Given the description of an element on the screen output the (x, y) to click on. 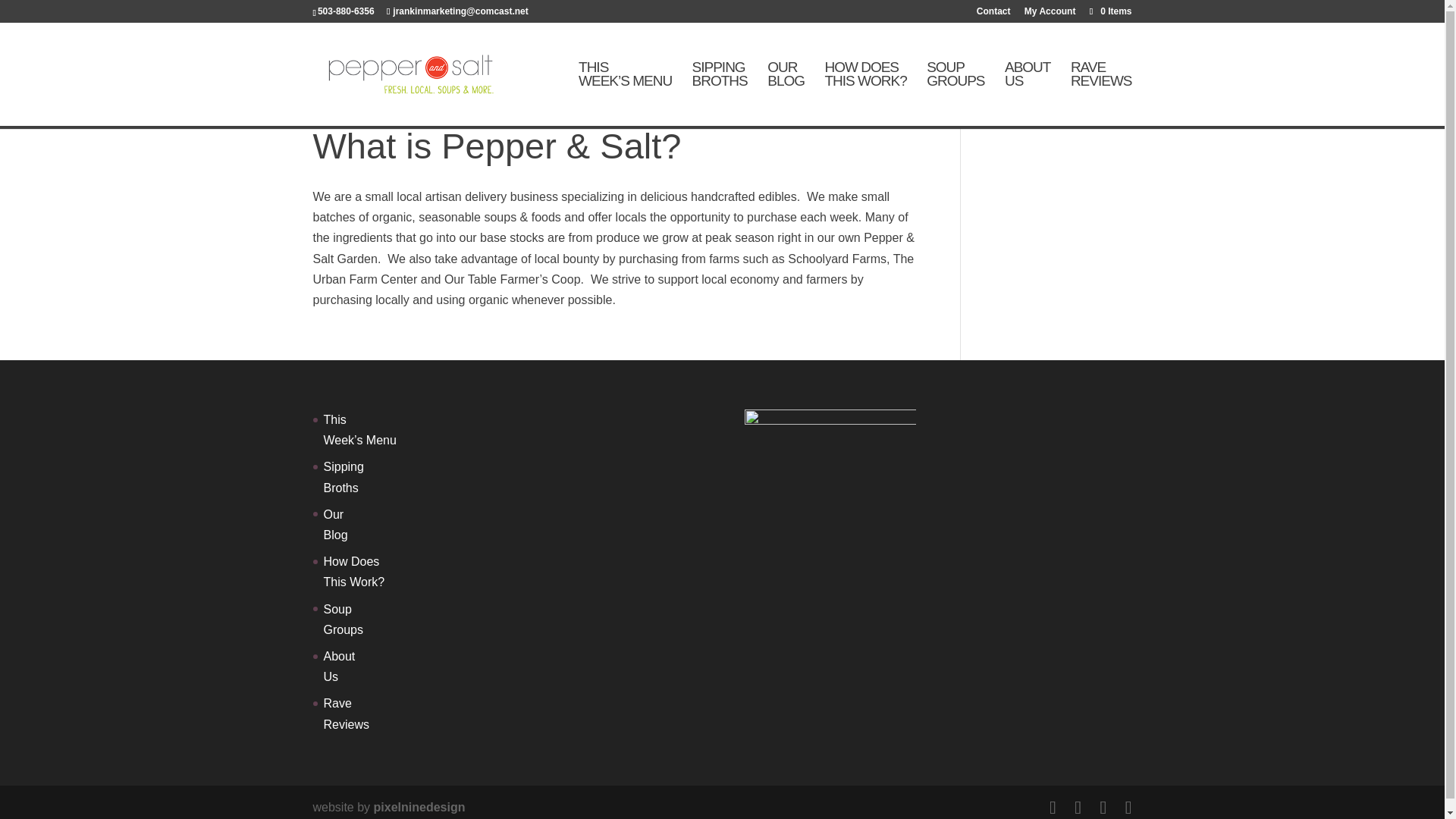
pixelninedesign (419, 807)
Contact (864, 93)
My Account (353, 571)
0 Items (1101, 93)
